Given the description of an element on the screen output the (x, y) to click on. 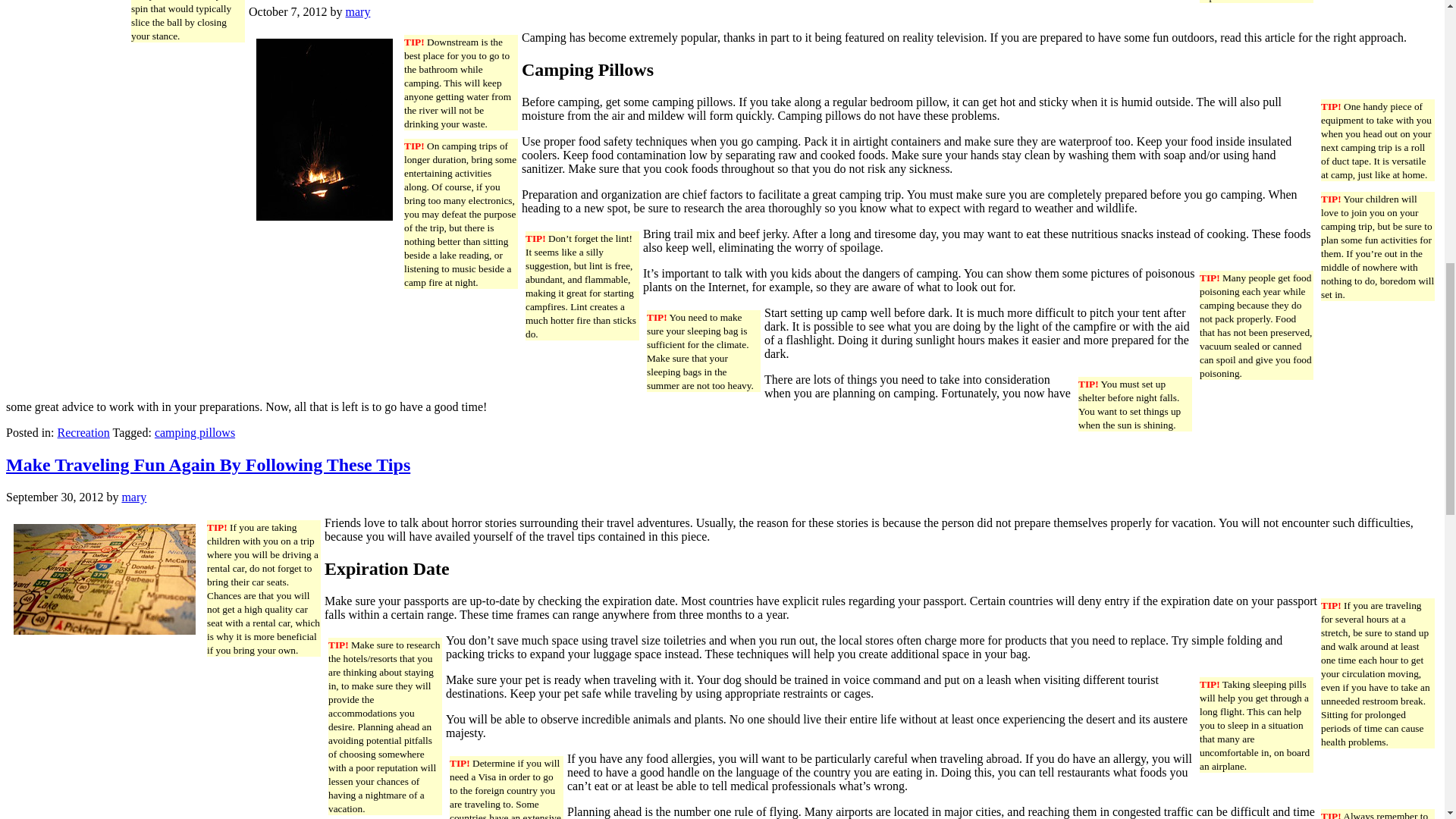
mary (133, 496)
camping pillows (194, 431)
Recreation (84, 431)
Make Traveling Fun Again By Following These Tips (207, 465)
Sunday, October 7, 2012, 8:31 pm (287, 11)
mary (358, 11)
Posts by mary (358, 11)
Posts by mary (133, 496)
Sunday, September 30, 2012, 8:22 pm (54, 496)
